Given the description of an element on the screen output the (x, y) to click on. 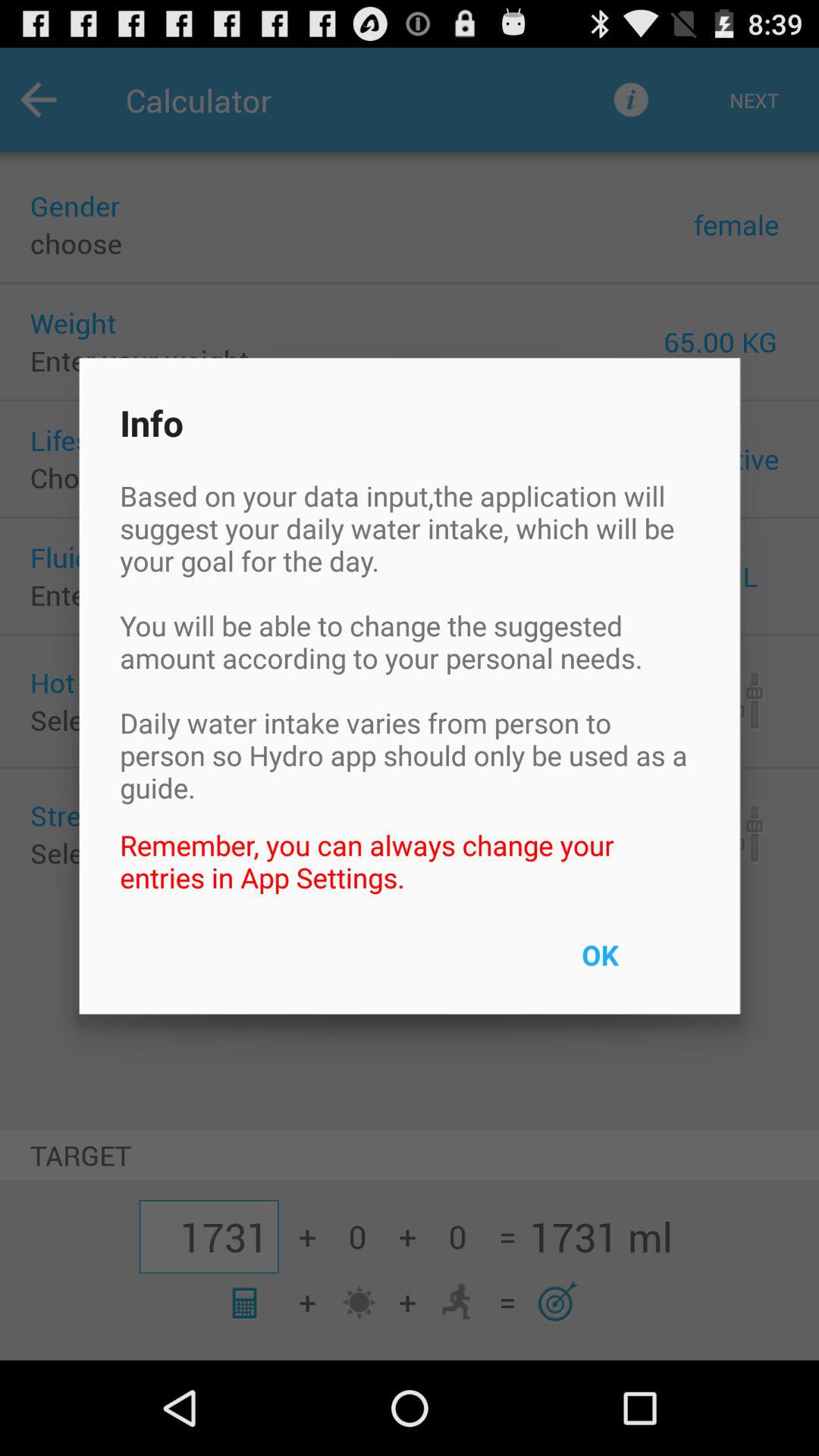
choose item on the right (634, 964)
